Given the description of an element on the screen output the (x, y) to click on. 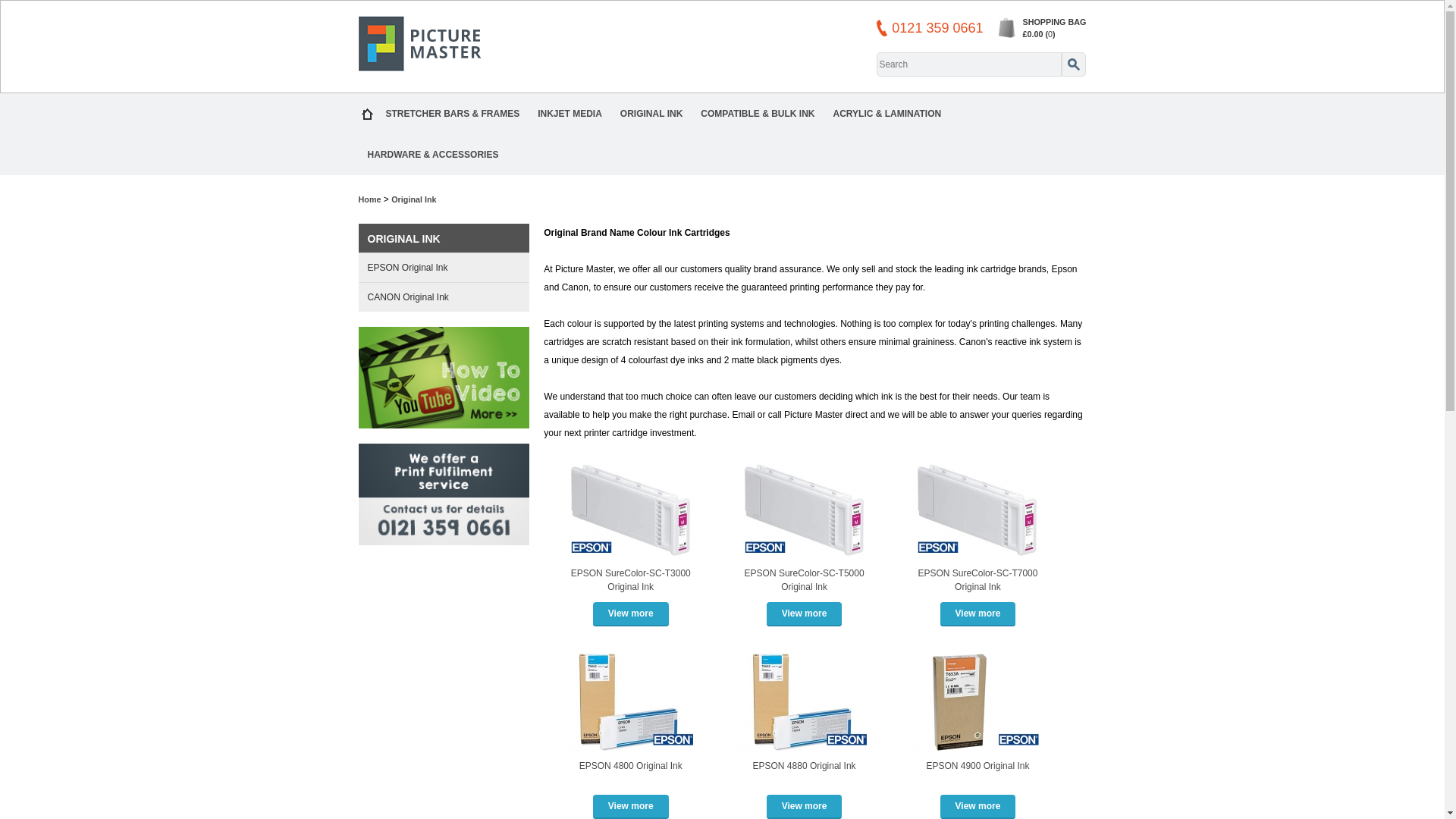
INKJET MEDIA (569, 113)
